Given the description of an element on the screen output the (x, y) to click on. 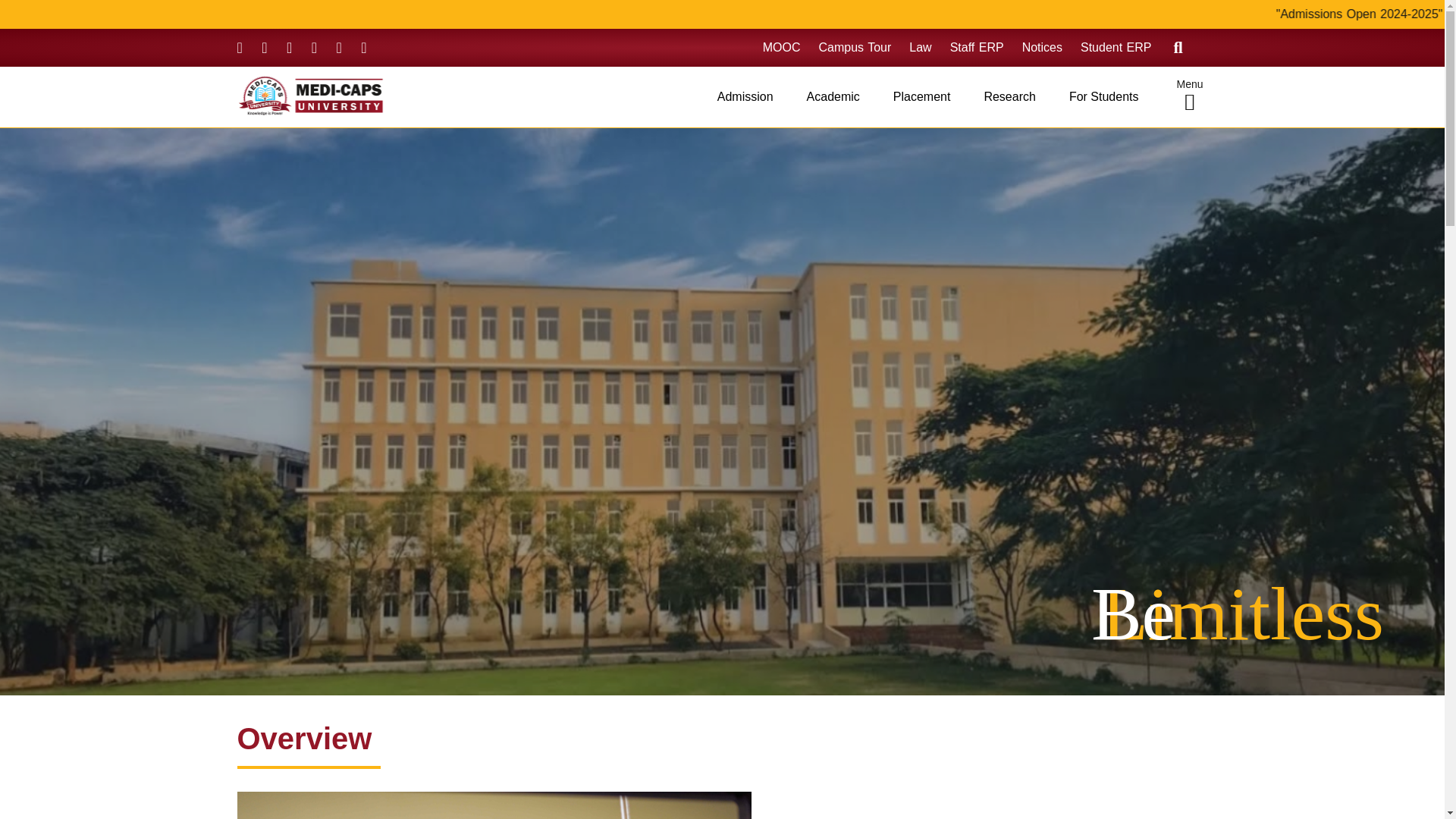
Campus Tour (854, 47)
Staff ERP (977, 47)
Law (919, 47)
Academic (833, 96)
MOOC (781, 47)
Student ERP (1115, 47)
Menu (1190, 96)
Admission (745, 96)
Notices (1042, 47)
